Given the description of an element on the screen output the (x, y) to click on. 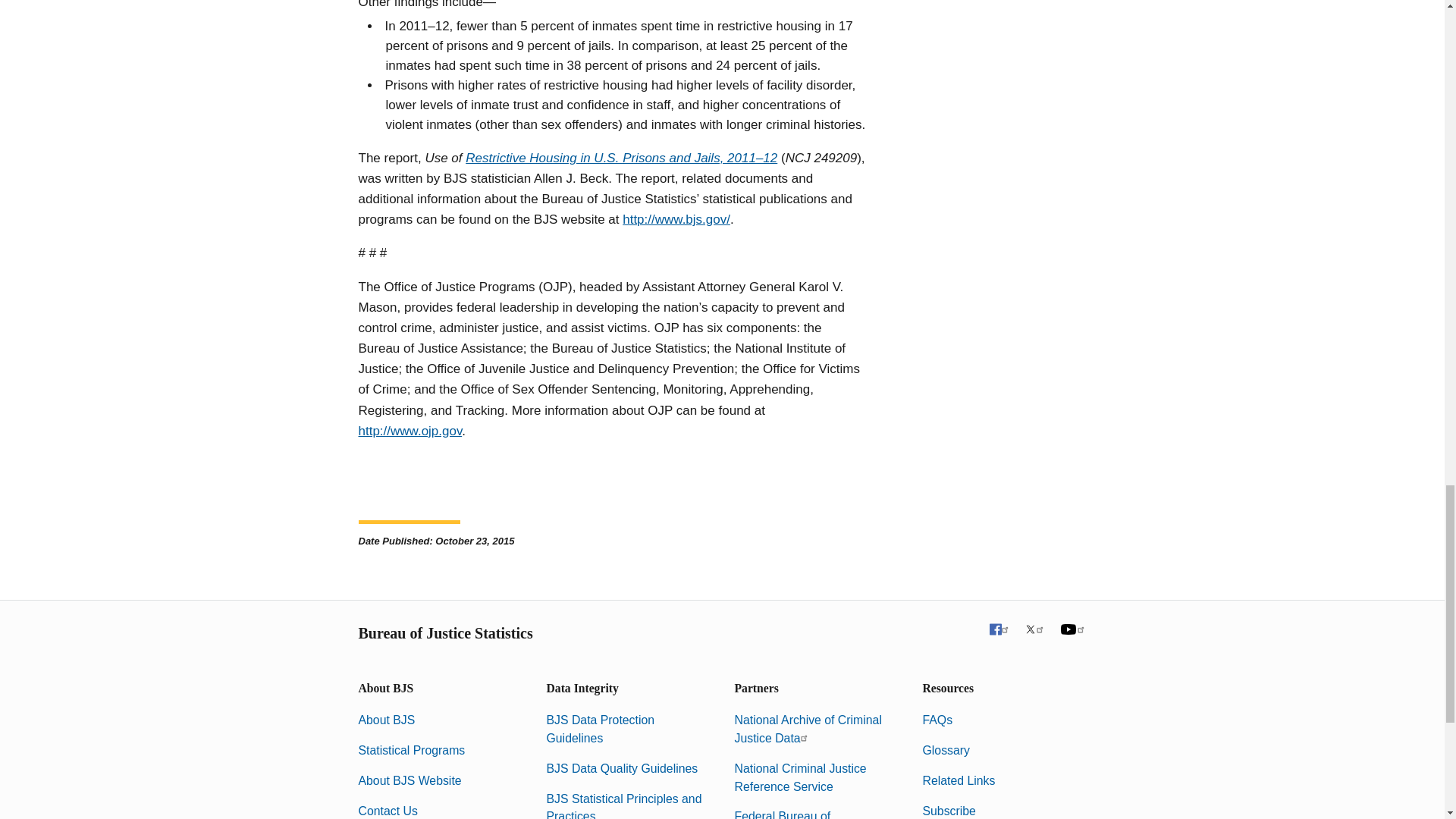
About BJS (386, 719)
National Archive of Criminal Justice Data (806, 728)
Contact Us (387, 809)
BJS Data Protection Guidelines (599, 728)
About BJS Website (409, 780)
BJS Data Quality Guidelines (621, 768)
BJS Statistical Principles and Practices (623, 805)
Statistical Programs (411, 749)
